Given the description of an element on the screen output the (x, y) to click on. 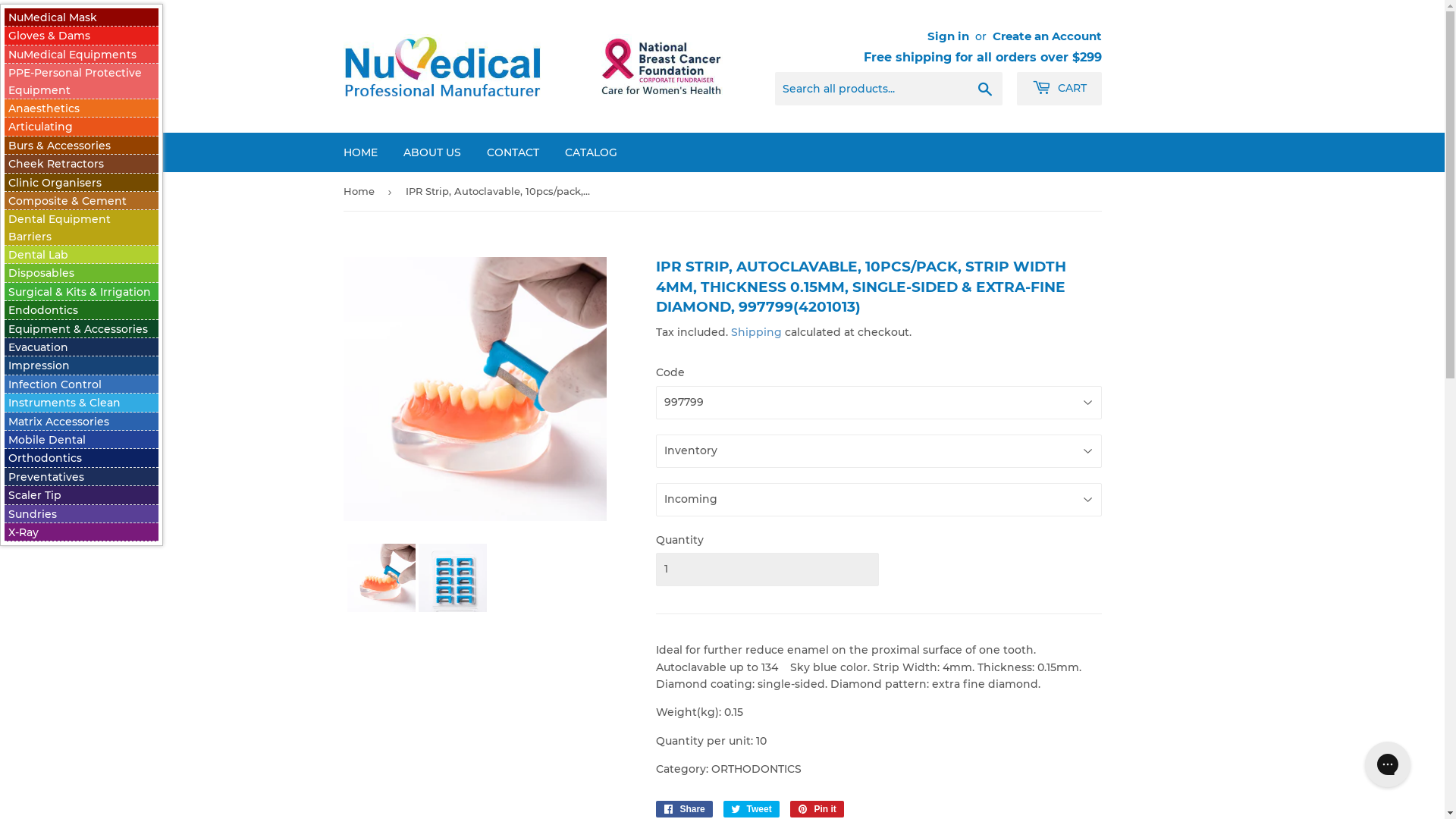
Burs & Accessories Element type: text (59, 145)
Composite & Cement Element type: text (67, 200)
Sundries Element type: text (32, 513)
Share
Share on Facebook Element type: text (683, 808)
Orthodontics Element type: text (44, 457)
Impression Element type: text (38, 365)
Sign in Element type: text (947, 35)
NuMedical Mask Element type: text (52, 17)
Dental Lab Element type: text (38, 254)
CATALOG Element type: text (590, 152)
Gorgias live chat messenger Element type: hover (1387, 764)
Search Element type: text (984, 89)
CONTACT Element type: text (511, 152)
Mobile Dental Element type: text (46, 439)
Shipping Element type: text (756, 331)
Home Element type: text (360, 191)
Pin it
Pin on Pinterest Element type: text (817, 808)
Create an Account Element type: text (1046, 35)
NuMedical Equipments Element type: text (72, 54)
PPE-Personal Protective Equipment Element type: text (74, 80)
Articulating Element type: text (40, 126)
Clinic Organisers Element type: text (54, 182)
Surgical & Kits & Irrigation Element type: text (79, 291)
Endodontics Element type: text (43, 309)
Preventatives Element type: text (46, 476)
Gloves & Dams Element type: text (49, 35)
HOME Element type: text (360, 152)
Infection Control Element type: text (54, 384)
Equipment & Accessories Element type: text (77, 328)
Instruments & Clean Element type: text (64, 402)
Cheek Retractors Element type: text (55, 163)
Tweet
Tweet on Twitter Element type: text (751, 808)
Anaesthetics Element type: text (43, 108)
ABOUT US Element type: text (431, 152)
Evacuation Element type: text (38, 347)
Dental Equipment Barriers Element type: text (59, 227)
Disposables Element type: text (41, 272)
CART Element type: text (1058, 88)
X-Ray Element type: text (23, 532)
Scaler Tip Element type: text (34, 495)
Matrix Accessories Element type: text (58, 421)
